Given the description of an element on the screen output the (x, y) to click on. 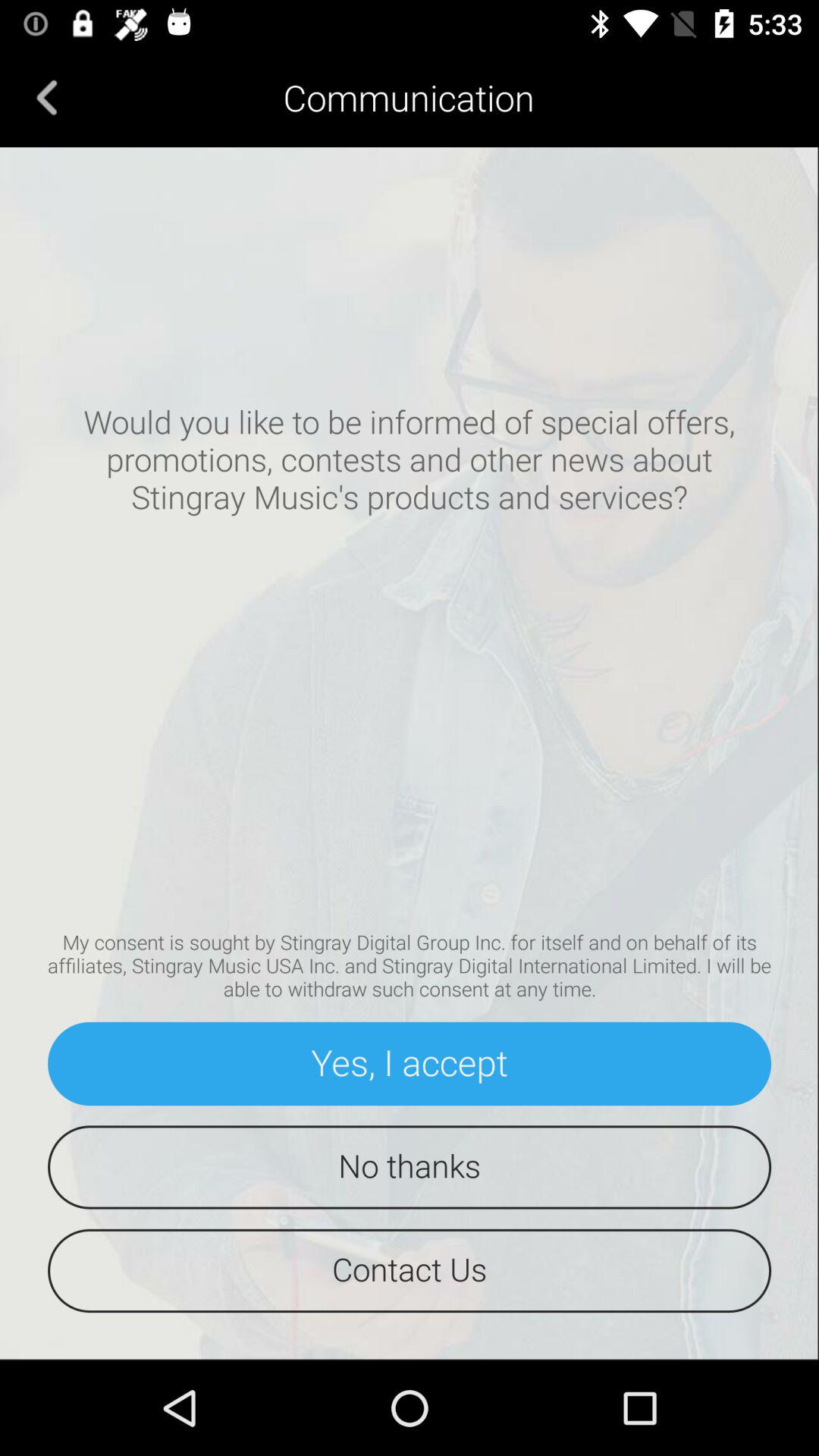
open the no thanks icon (409, 1167)
